Given the description of an element on the screen output the (x, y) to click on. 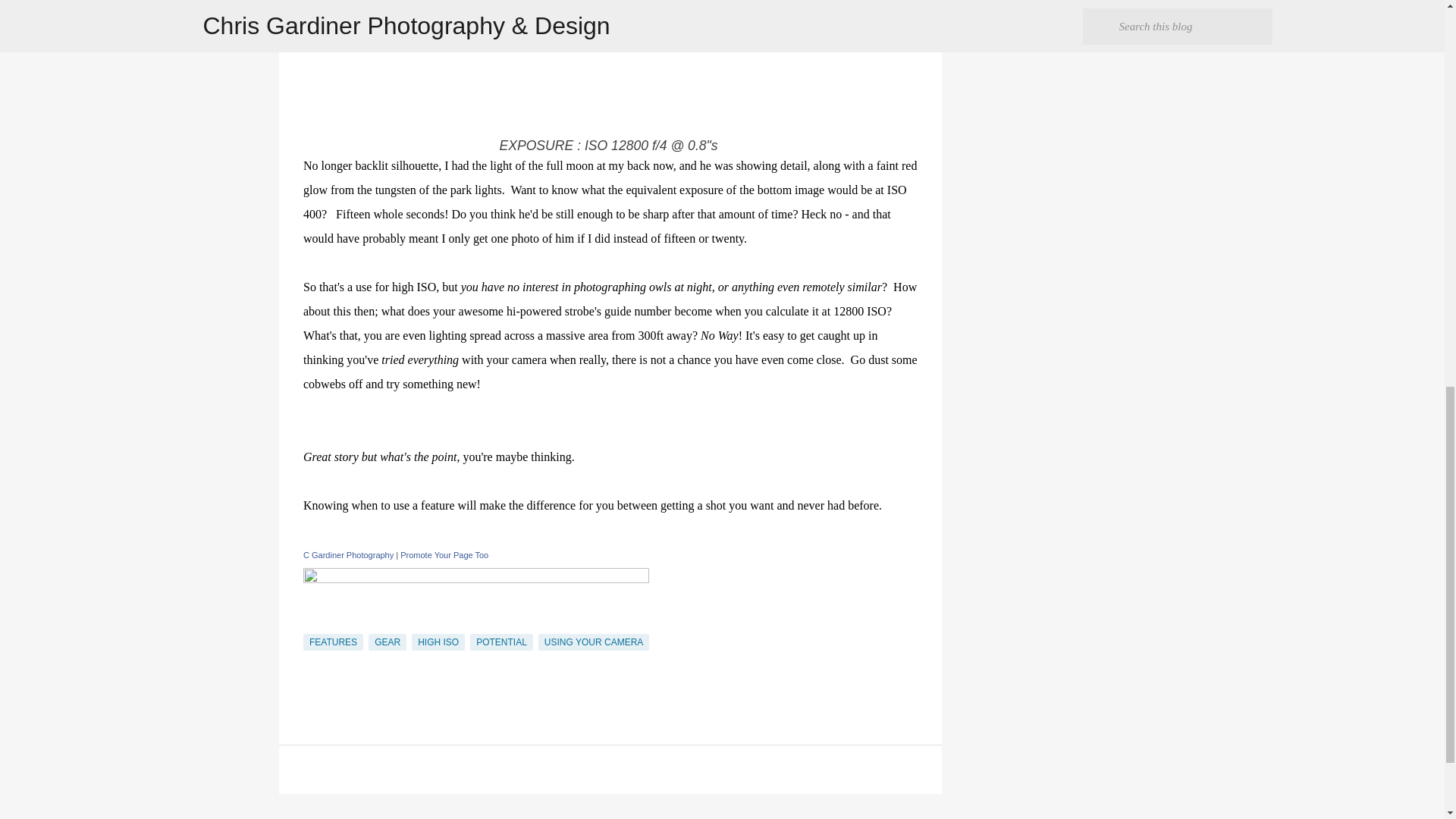
C Gardiner Photography (347, 554)
FEATURES (332, 641)
USING YOUR CAMERA (593, 641)
Promote Your Page Too (443, 554)
C Gardiner Photography (347, 554)
HIGH ISO (438, 641)
POTENTIAL (501, 641)
C Gardiner Photography (475, 578)
Make your own badge! (443, 554)
GEAR (387, 641)
